Given the description of an element on the screen output the (x, y) to click on. 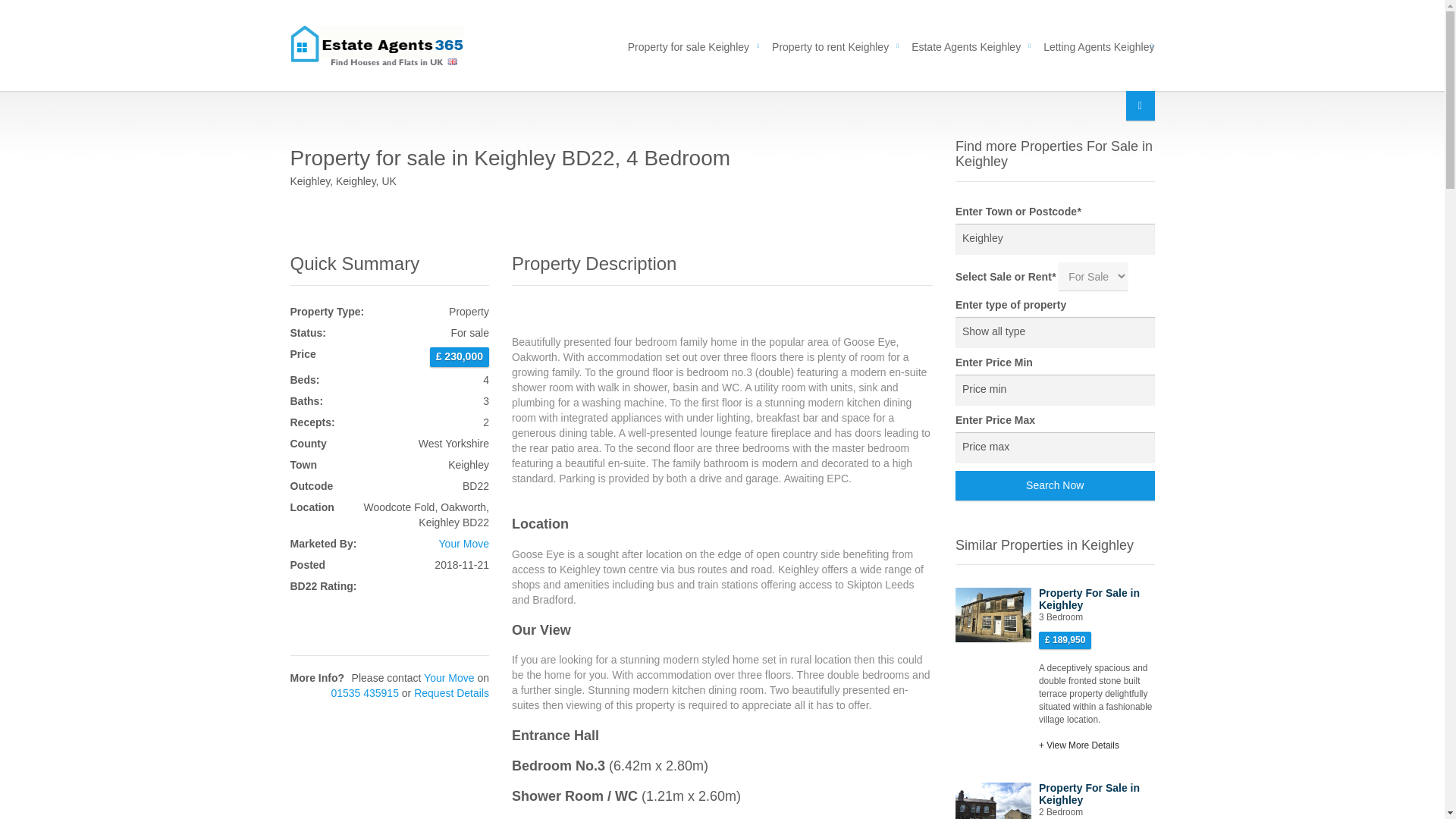
Property to rent Keighley (829, 45)
Property for sale Keighley (687, 45)
Request Details (451, 693)
Letting Agents Keighley (1093, 45)
Your Move (448, 677)
Estate Agents Keighley (965, 45)
Your Move (464, 543)
Property to rent Keighley (829, 45)
Property for sale Keighley (687, 45)
Price min (1054, 389)
